Given the description of an element on the screen output the (x, y) to click on. 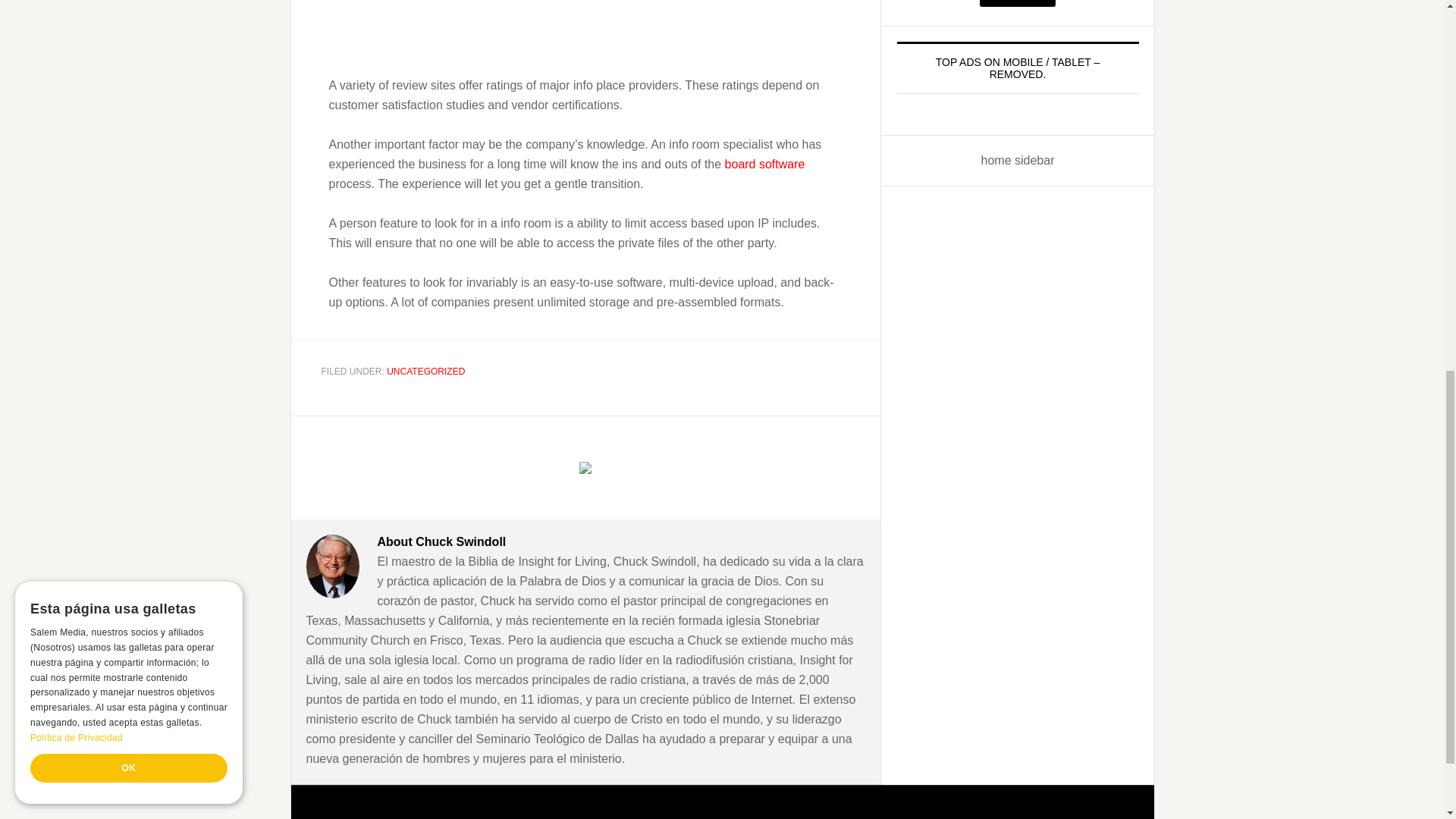
Buscar (1017, 3)
